Given the description of an element on the screen output the (x, y) to click on. 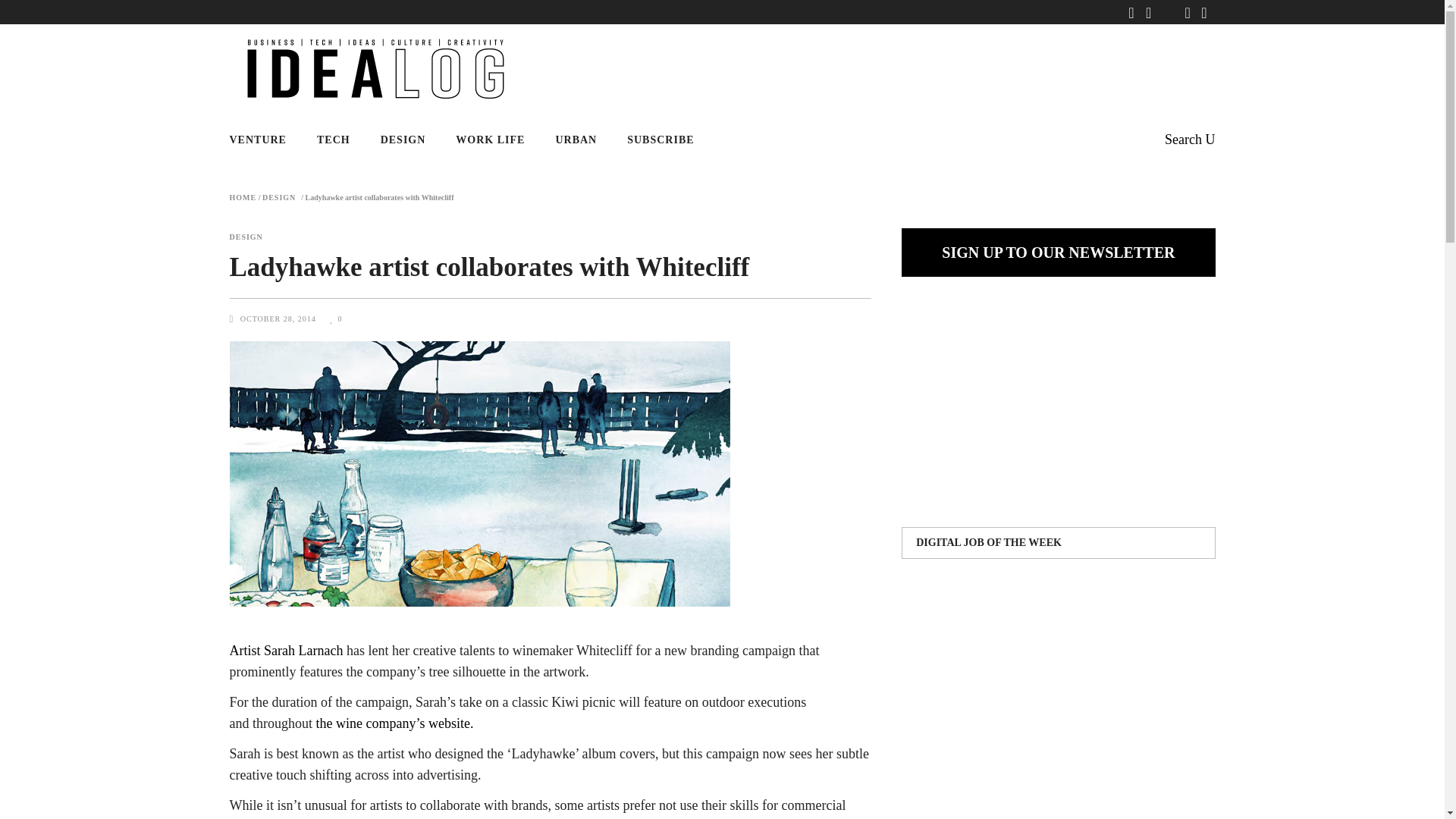
TECH (333, 139)
Artist Sarah Larnach (285, 650)
Search (1189, 139)
VENTURE (264, 139)
DESIGN (403, 139)
DESIGN (278, 197)
OCTOBER 28, 2014 (279, 318)
WORK LIFE (490, 139)
SUBSCRIBE (660, 139)
URBAN (575, 139)
